Given the description of an element on the screen output the (x, y) to click on. 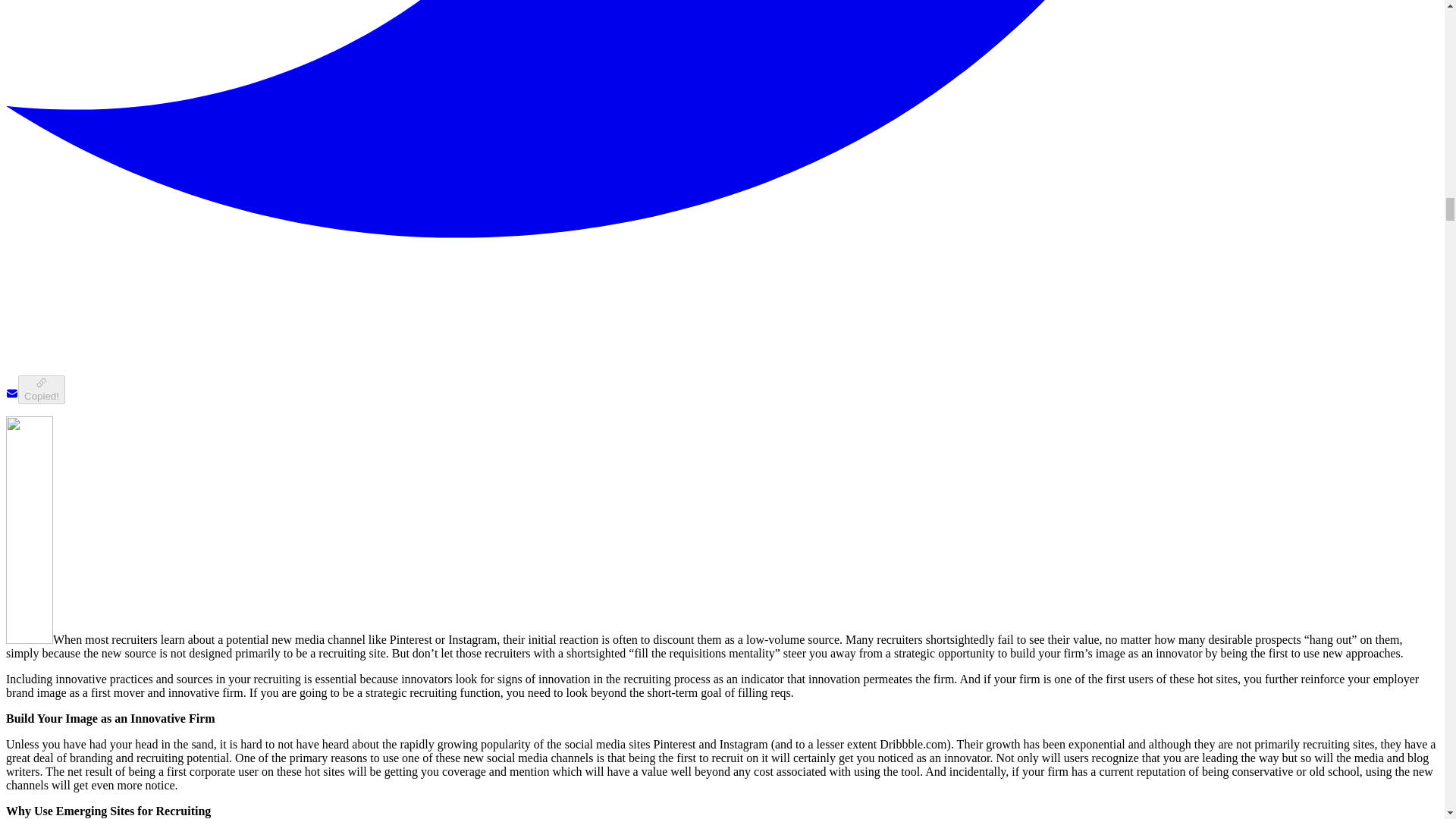
Copied! (41, 389)
